Given the description of an element on the screen output the (x, y) to click on. 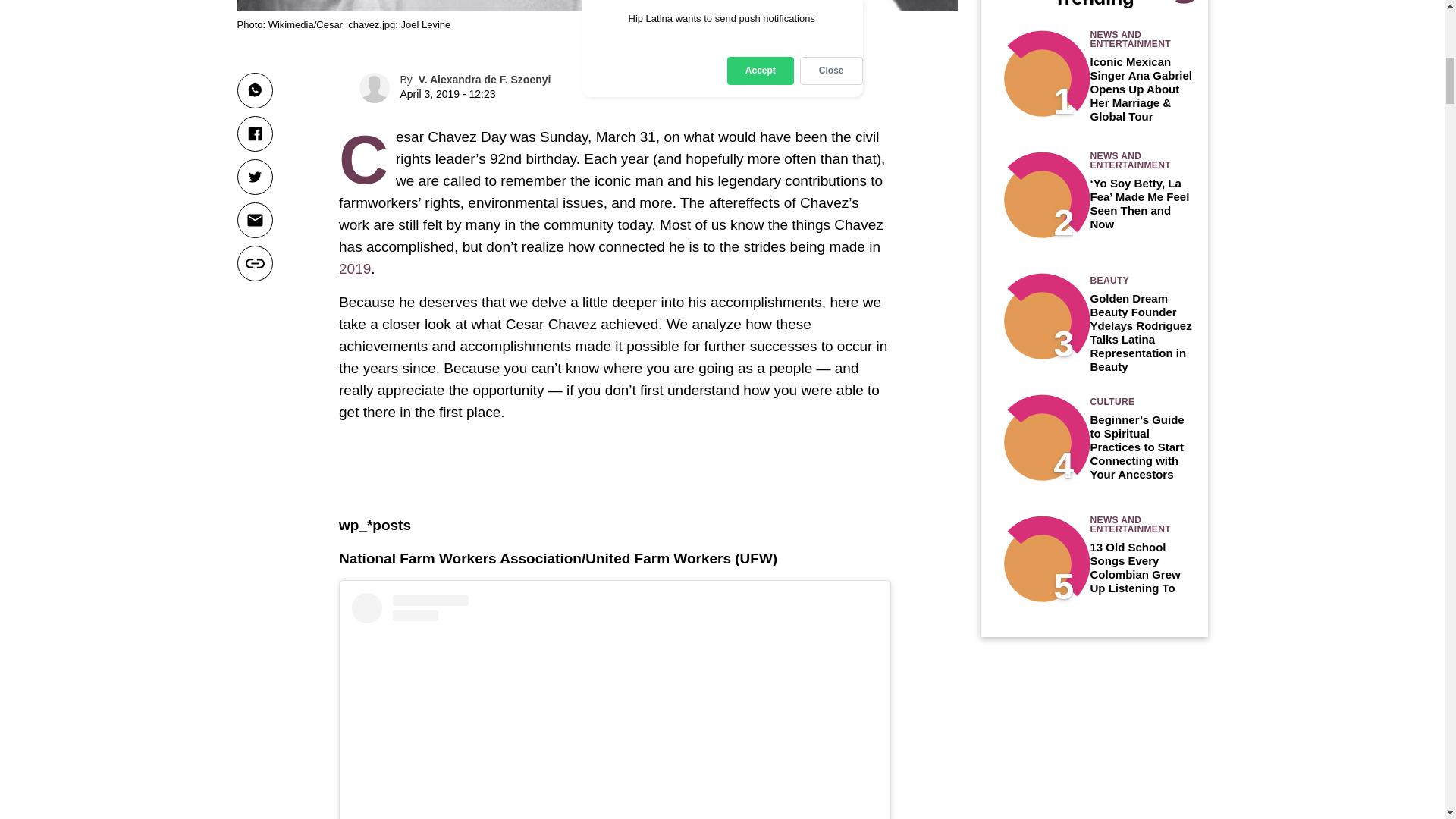
Share this article on Twitter (253, 176)
View this post on Instagram (614, 705)
V. Alexandra de F. Szoenyi (485, 79)
Share this article on Facebook (253, 133)
2019 (355, 268)
Share this article on WhatsApp (253, 90)
